Given the description of an element on the screen output the (x, y) to click on. 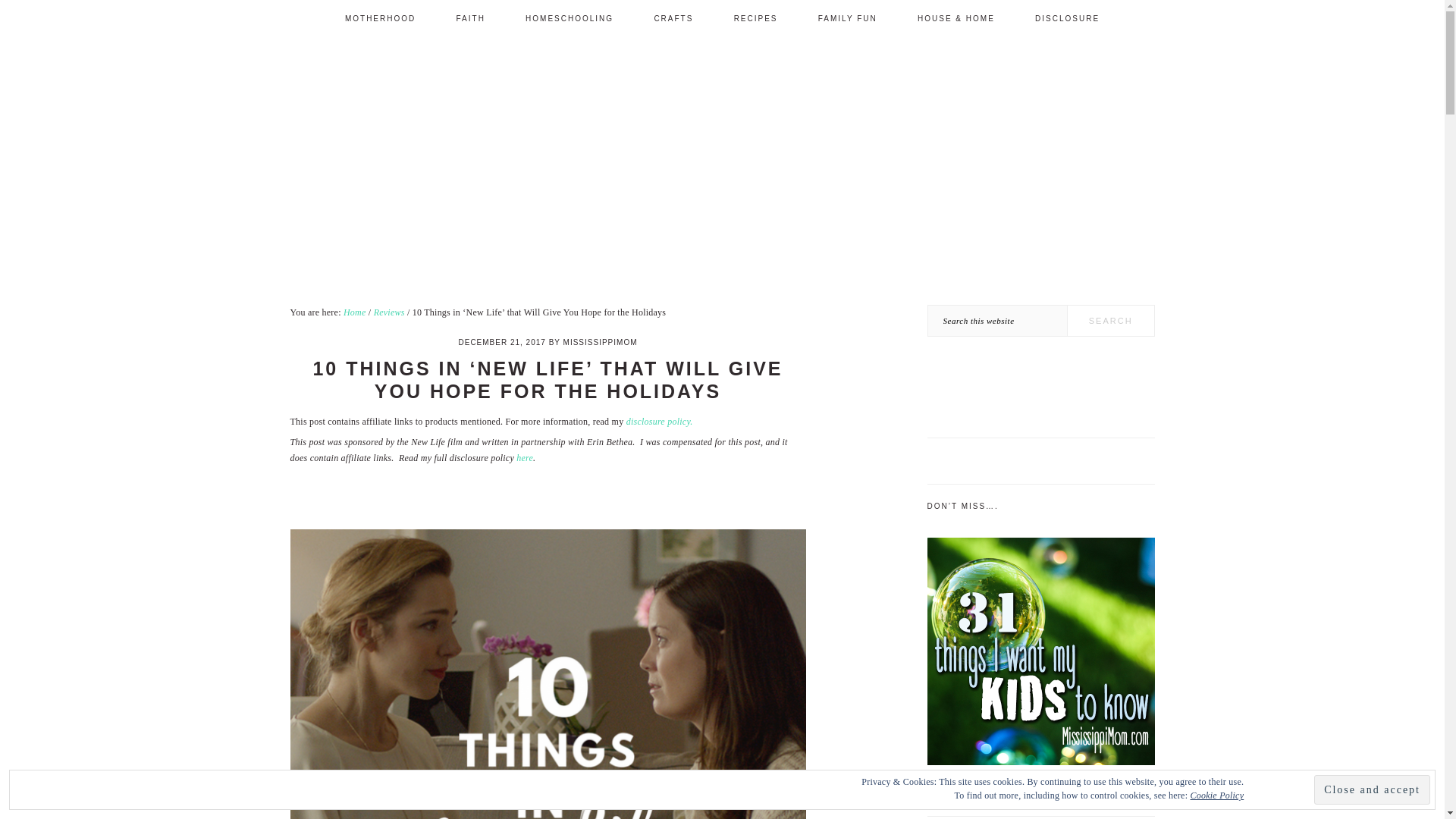
Close and accept (1371, 789)
DISCLOSURE (1067, 18)
Reviews (389, 312)
MOTHERHOOD (379, 18)
FAITH (470, 18)
Search (1110, 320)
MISSISSIPPIMOM.COM (774, 136)
Close and accept (1371, 789)
Search (1110, 320)
